Given the description of an element on the screen output the (x, y) to click on. 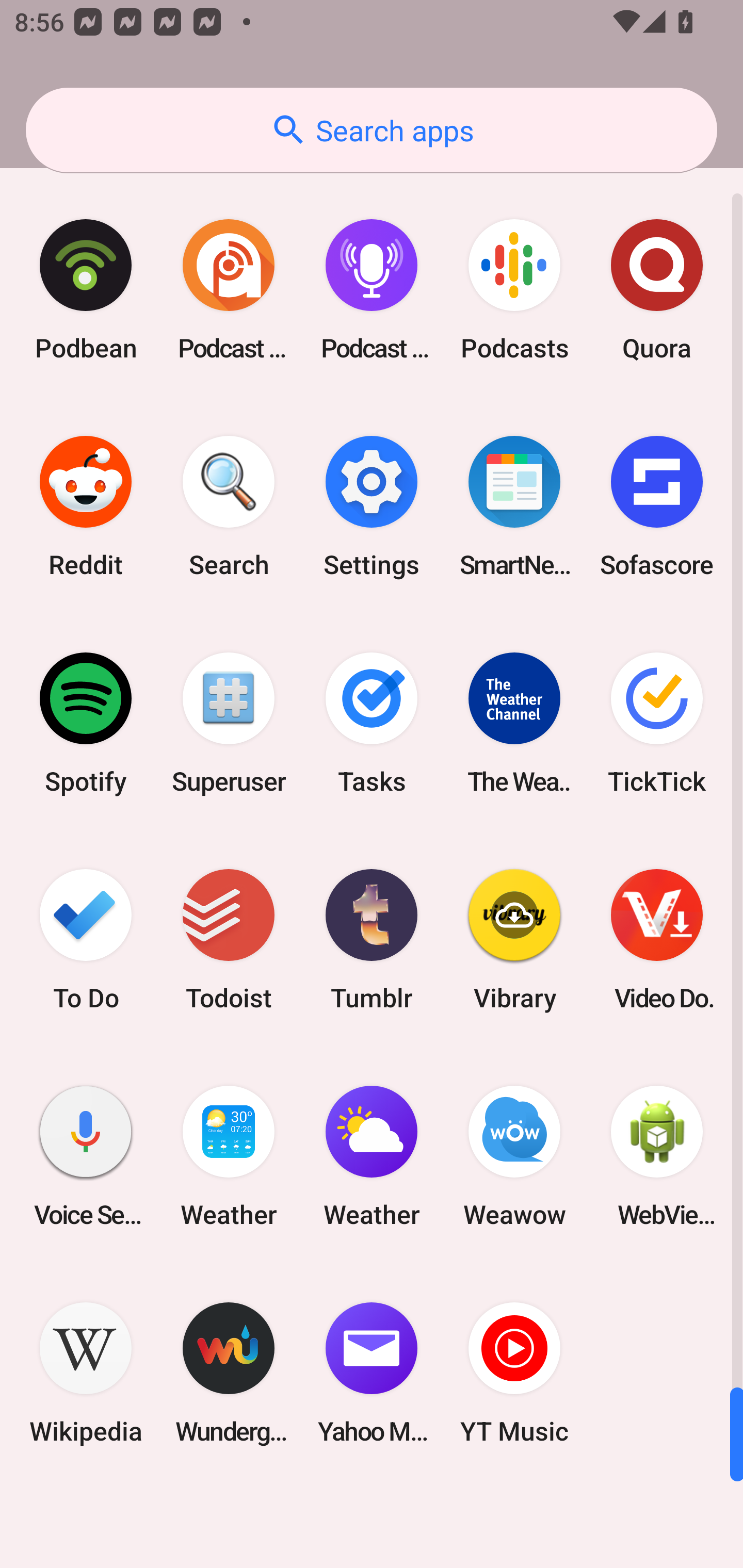
  Search apps (371, 130)
Podbean (85, 289)
Podcast Addict (228, 289)
Podcast Player (371, 289)
Podcasts (514, 289)
Quora (656, 289)
Reddit (85, 506)
Search (228, 506)
Settings (371, 506)
SmartNews (514, 506)
Sofascore (656, 506)
Spotify (85, 722)
Superuser (228, 722)
Tasks (371, 722)
The Weather Channel (514, 722)
TickTick (656, 722)
To Do (85, 939)
Todoist (228, 939)
Tumblr (371, 939)
Vibrary (514, 939)
Video Downloader & Ace Player (656, 939)
Voice Search (85, 1156)
Weather (228, 1156)
Weather (371, 1156)
Weawow (514, 1156)
WebView Browser Tester (656, 1156)
Wikipedia (85, 1373)
Wunderground (228, 1373)
Yahoo Mail (371, 1373)
YT Music (514, 1373)
